Given the description of an element on the screen output the (x, y) to click on. 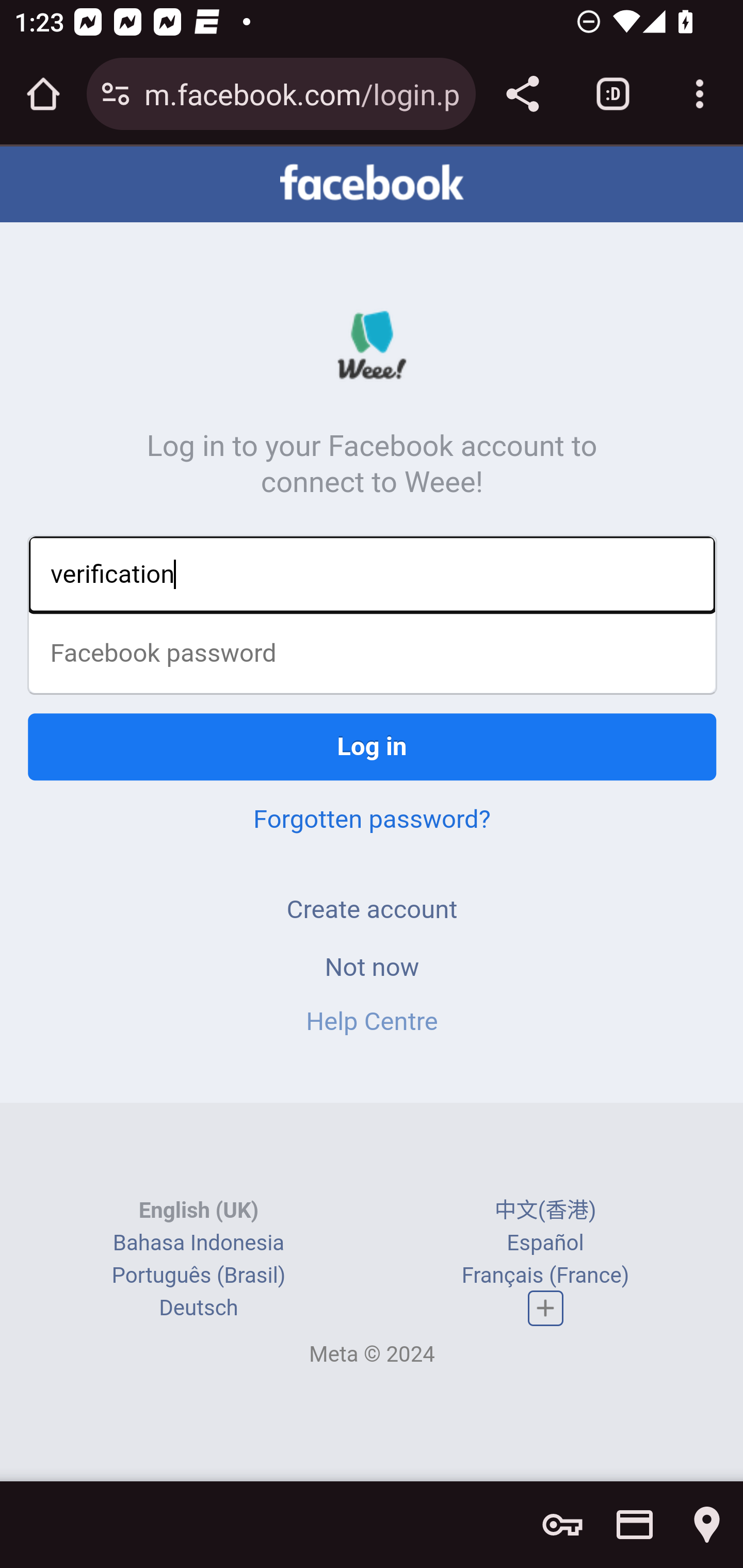
Open the home page (43, 93)
Connection is secure (115, 93)
Share (522, 93)
Switch or close tabs (612, 93)
Customize and control Google Chrome (699, 93)
Show saved passwords and password options (562, 1524)
Show saved payment methods (634, 1524)
Show saved addresses (706, 1524)
